Given the description of an element on the screen output the (x, y) to click on. 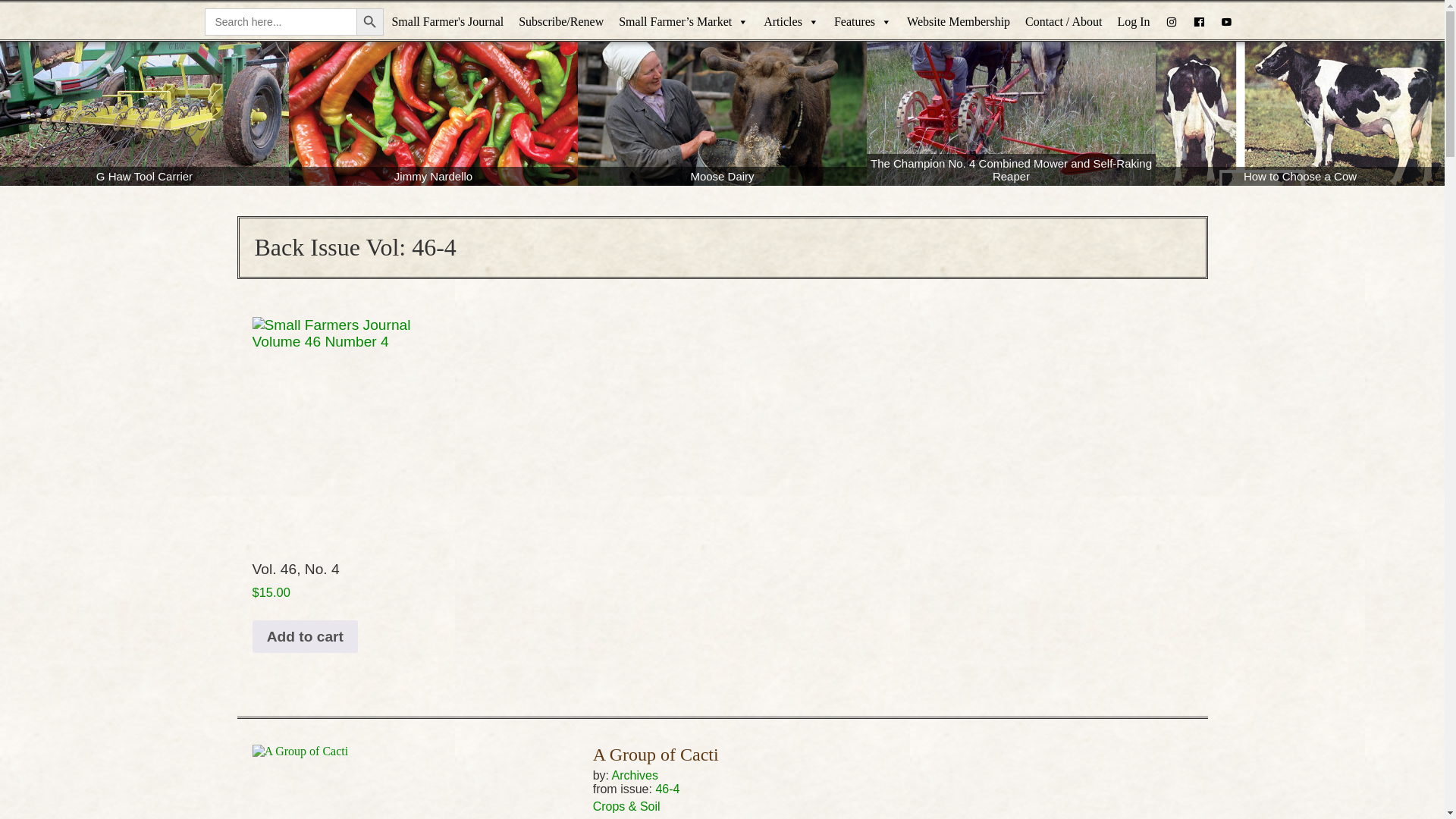
Website Membership (958, 21)
G Haw Tool Carrier (144, 112)
Articles (791, 21)
Features (863, 21)
Log In (1133, 21)
Search Button (370, 22)
Small Farmer's Journal (447, 21)
